Given the description of an element on the screen output the (x, y) to click on. 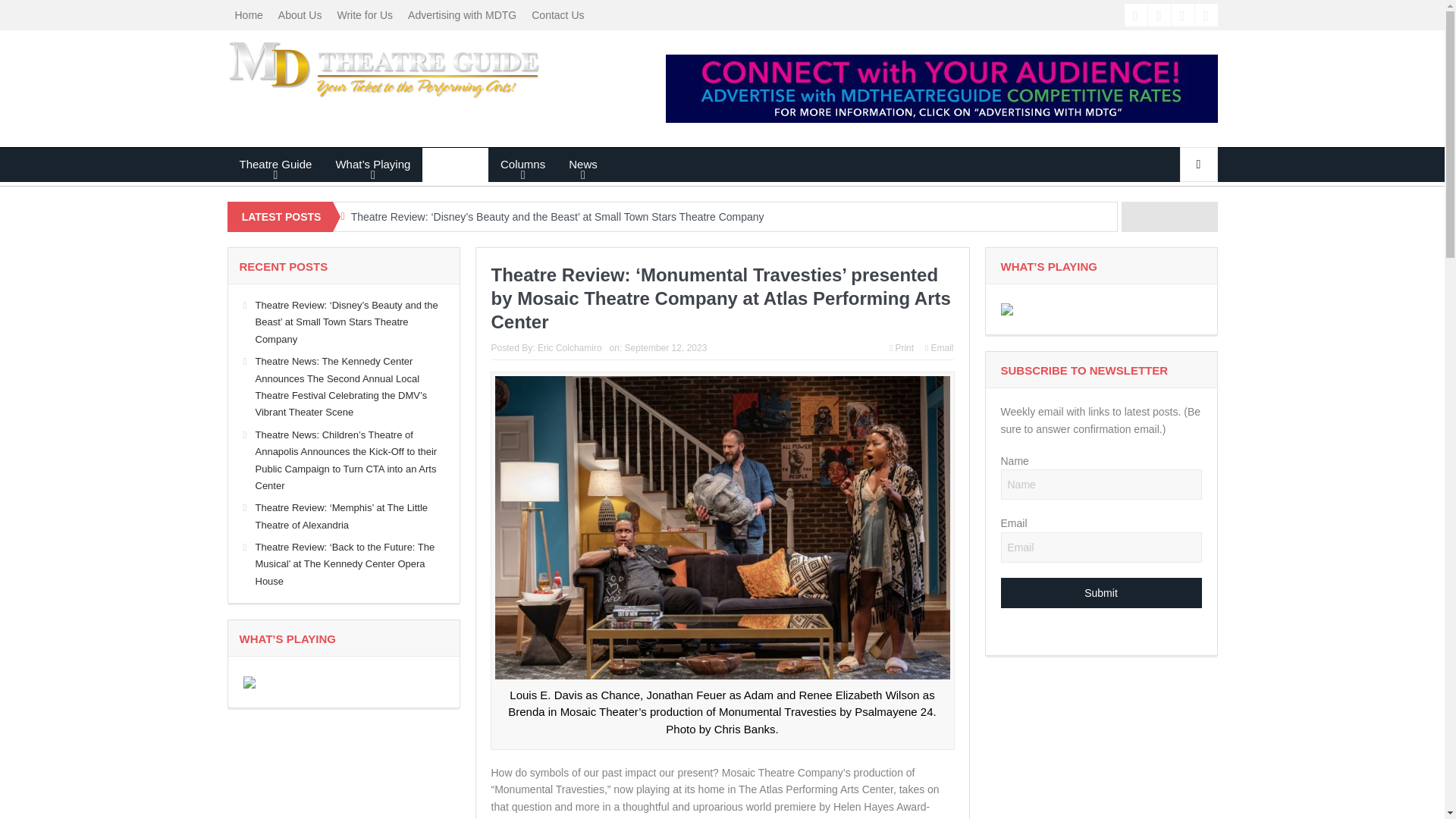
Advertising with MDTG (462, 15)
Home (248, 15)
Submit (1101, 593)
Write for Us (364, 15)
Reviews (454, 164)
Contact Us (557, 15)
About Us (300, 15)
Columns (522, 164)
Theatre Guide (275, 164)
